Given the description of an element on the screen output the (x, y) to click on. 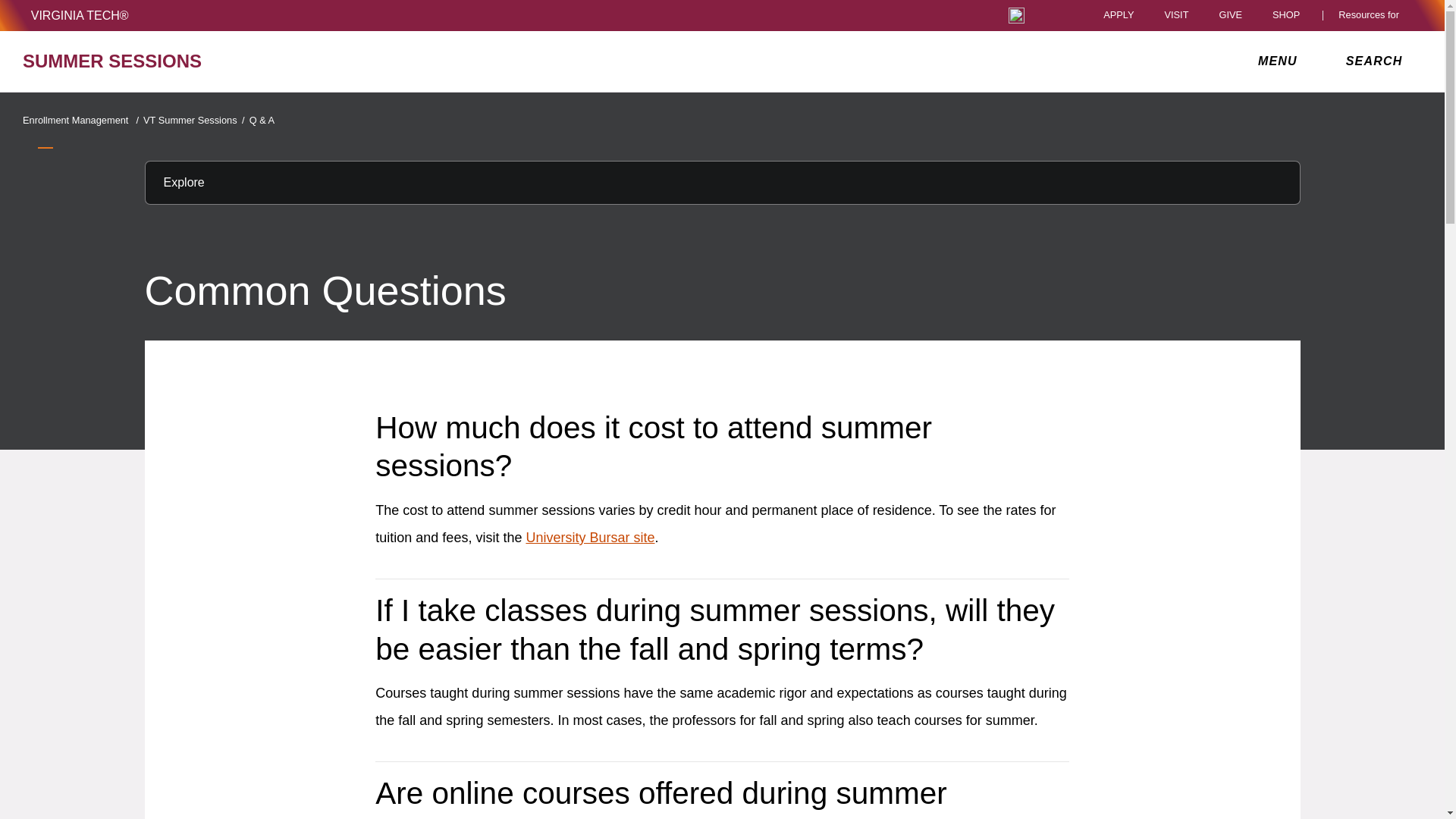
VISIT (1175, 15)
MENU (1280, 61)
GIVE (1229, 15)
APPLY (1118, 15)
SHOP (1289, 15)
Universal Access Toggle (1017, 15)
SUMMER SESSIONS (250, 60)
Enrollment Management (81, 120)
Resources for (1372, 15)
